Given the description of an element on the screen output the (x, y) to click on. 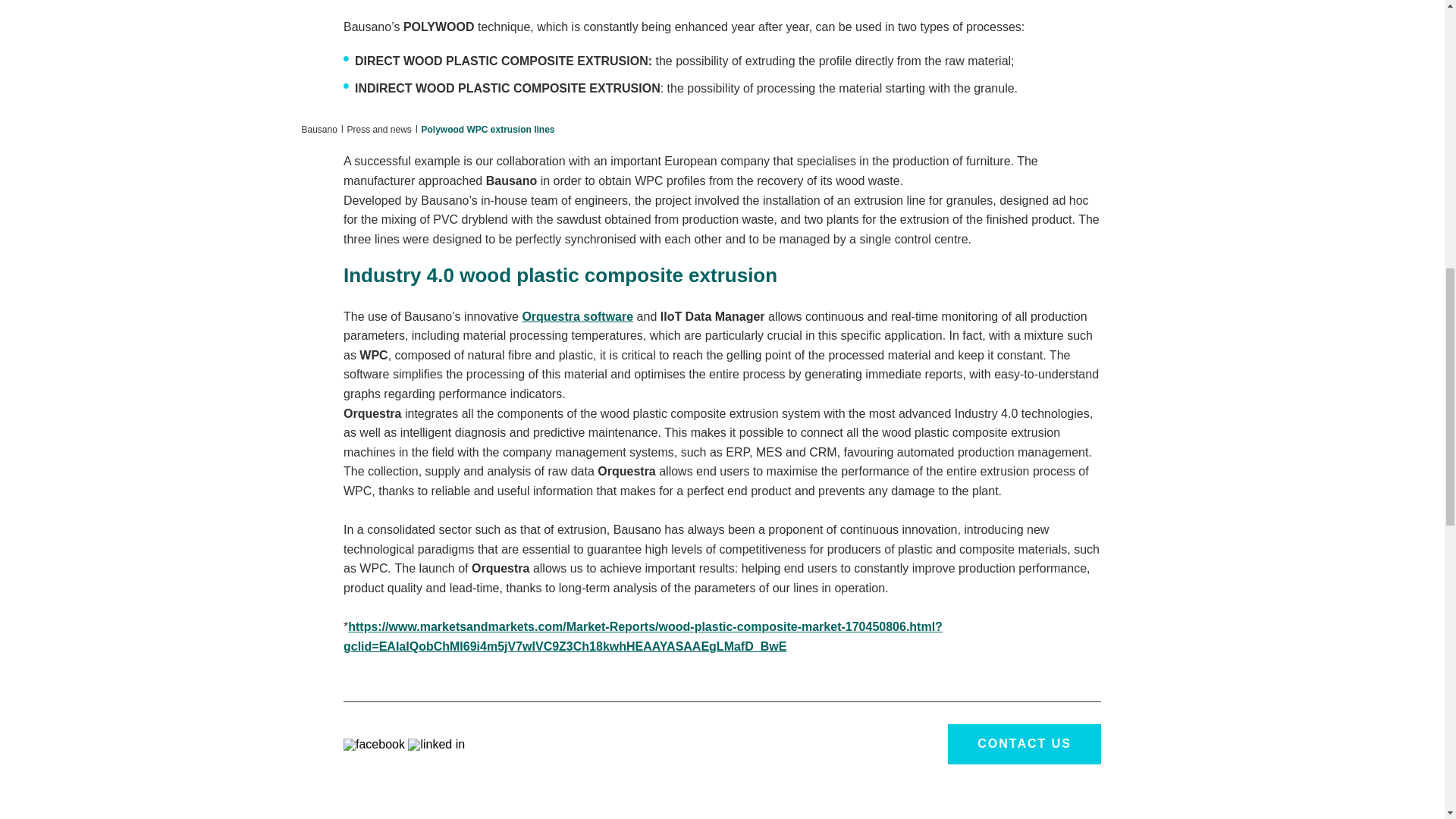
Facebook (375, 743)
LinkedIn (435, 743)
